Given the description of an element on the screen output the (x, y) to click on. 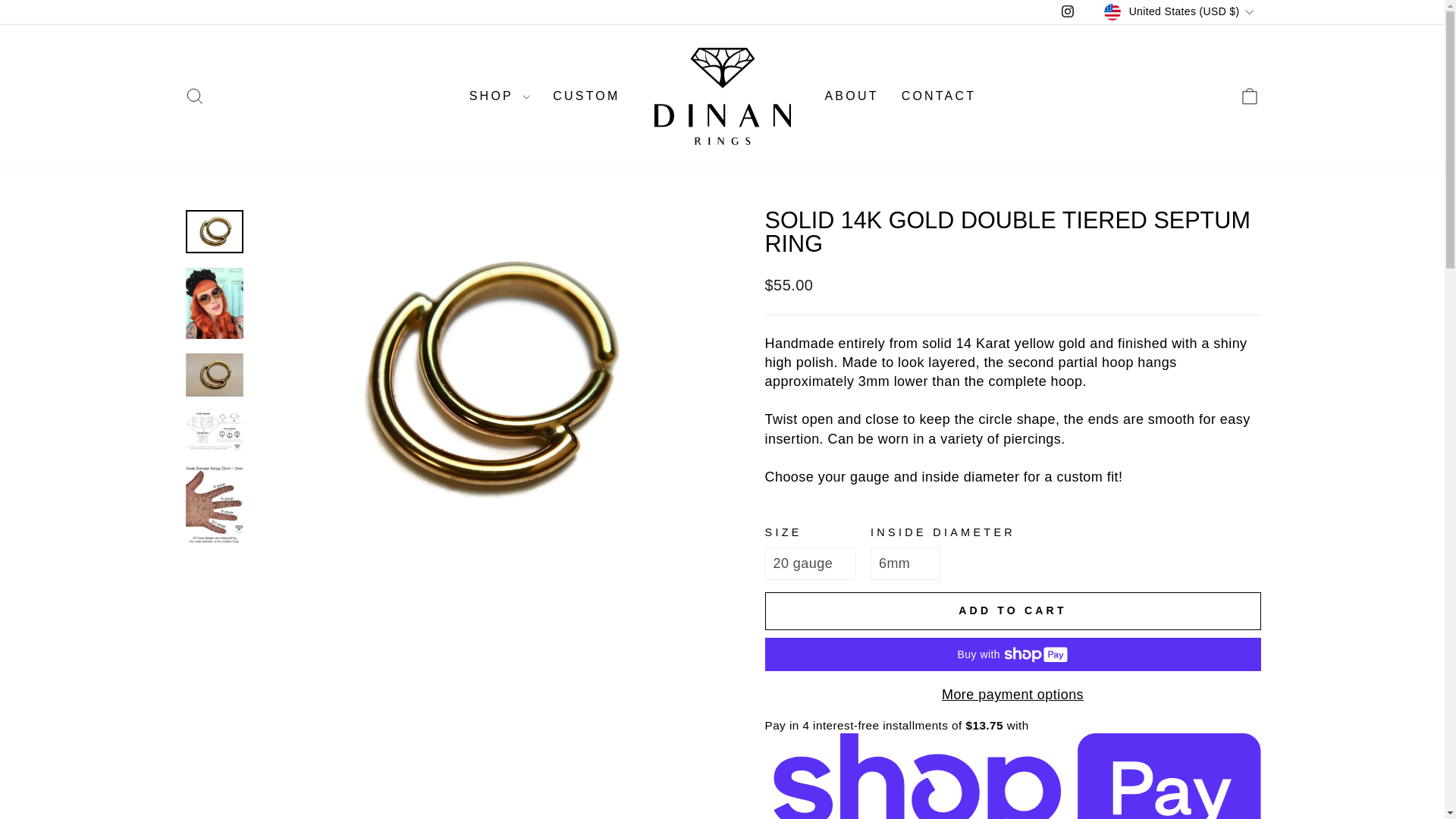
instagram (1067, 10)
ICON-BAG-MINIMAL (1249, 96)
ICON-SEARCH (194, 96)
